Given the description of an element on the screen output the (x, y) to click on. 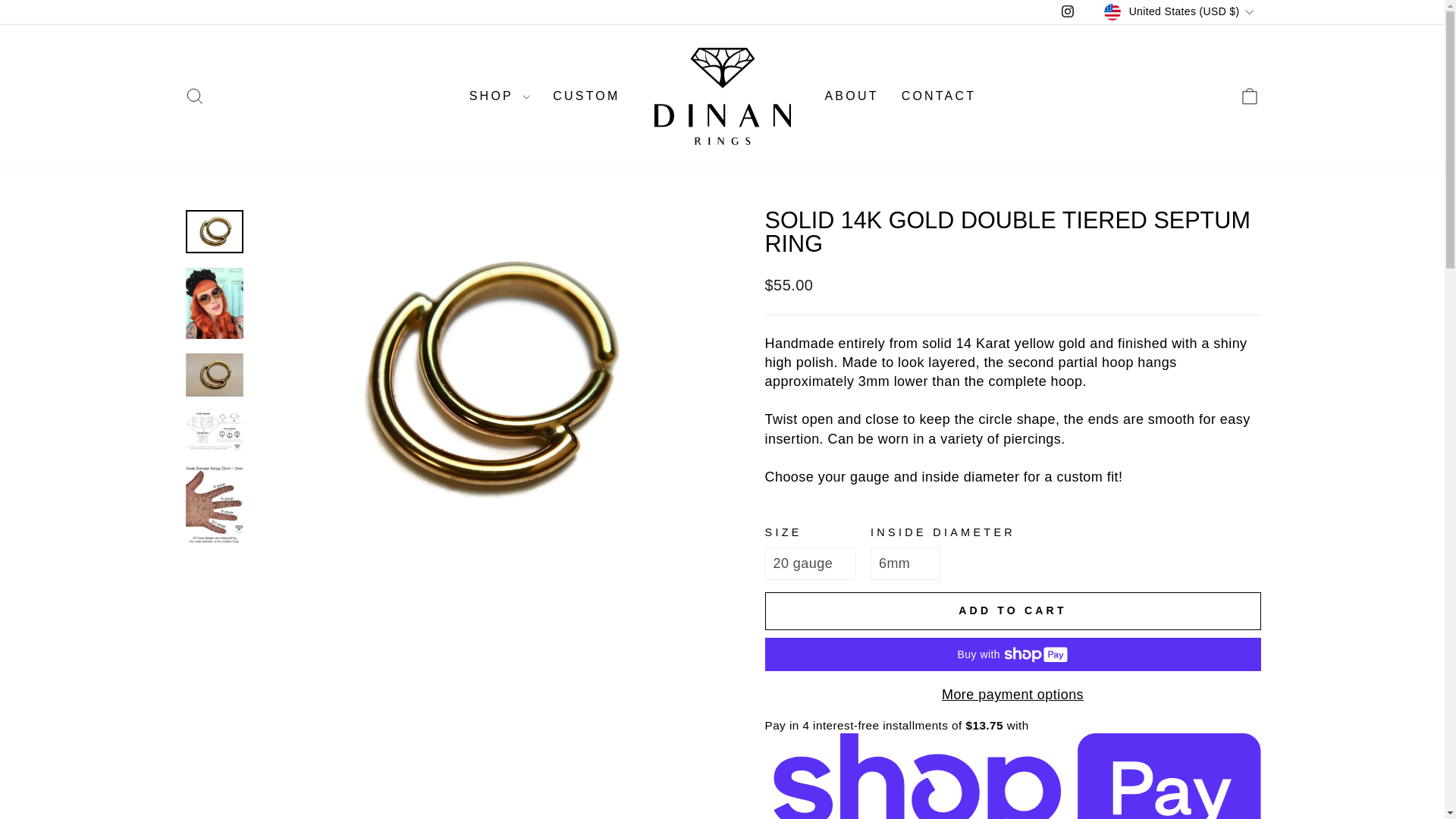
instagram (1067, 10)
ICON-BAG-MINIMAL (1249, 96)
ICON-SEARCH (194, 96)
